Given the description of an element on the screen output the (x, y) to click on. 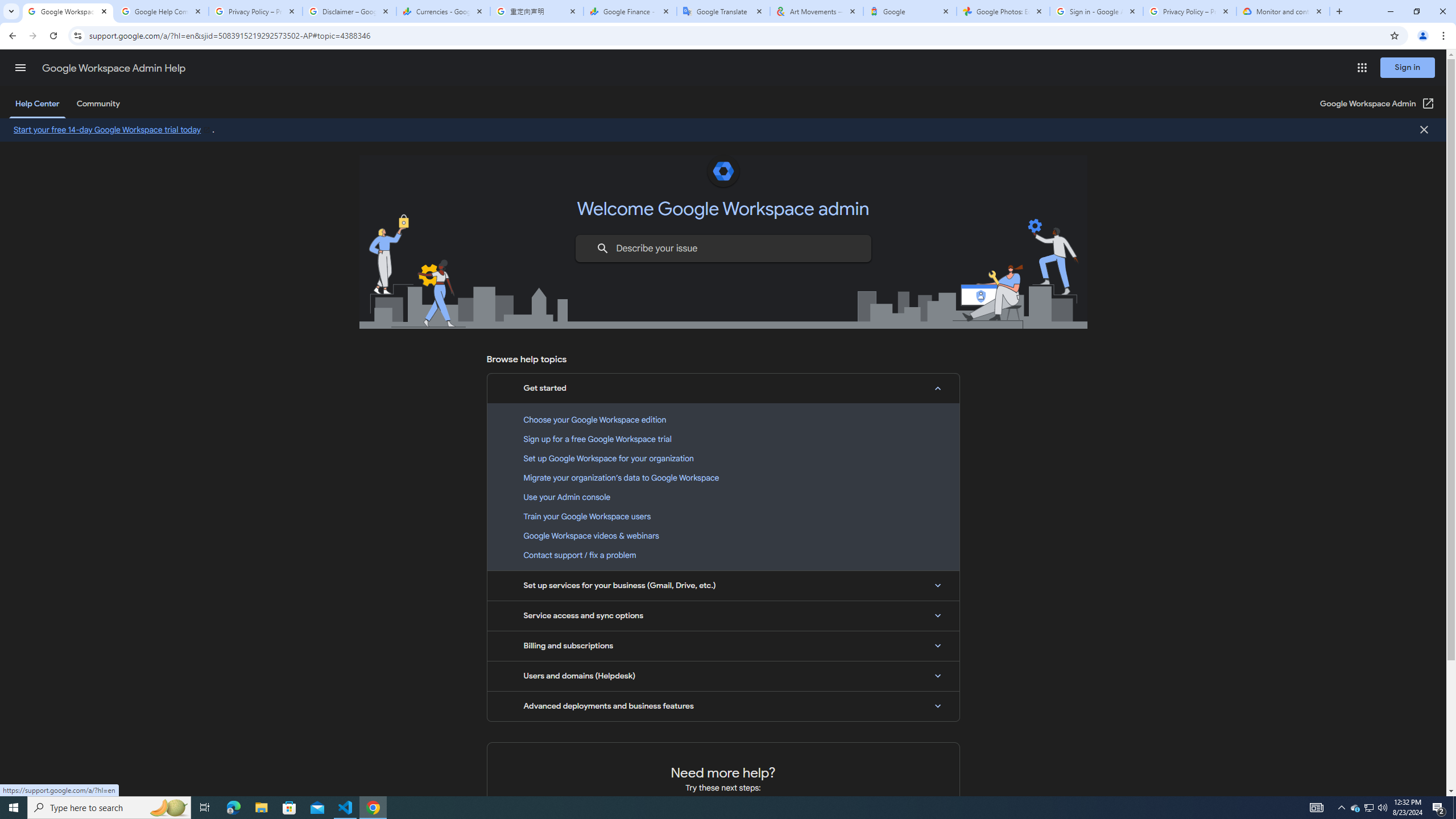
Sign up for a free Google Workspace trial (722, 438)
Start your free 14-day Google Workspace trial today (112, 129)
Currencies - Google Finance (443, 11)
Main menu (20, 67)
Google Workspace Admin Help (67, 11)
Describe your issue to find information that might help you. (722, 248)
